Given the description of an element on the screen output the (x, y) to click on. 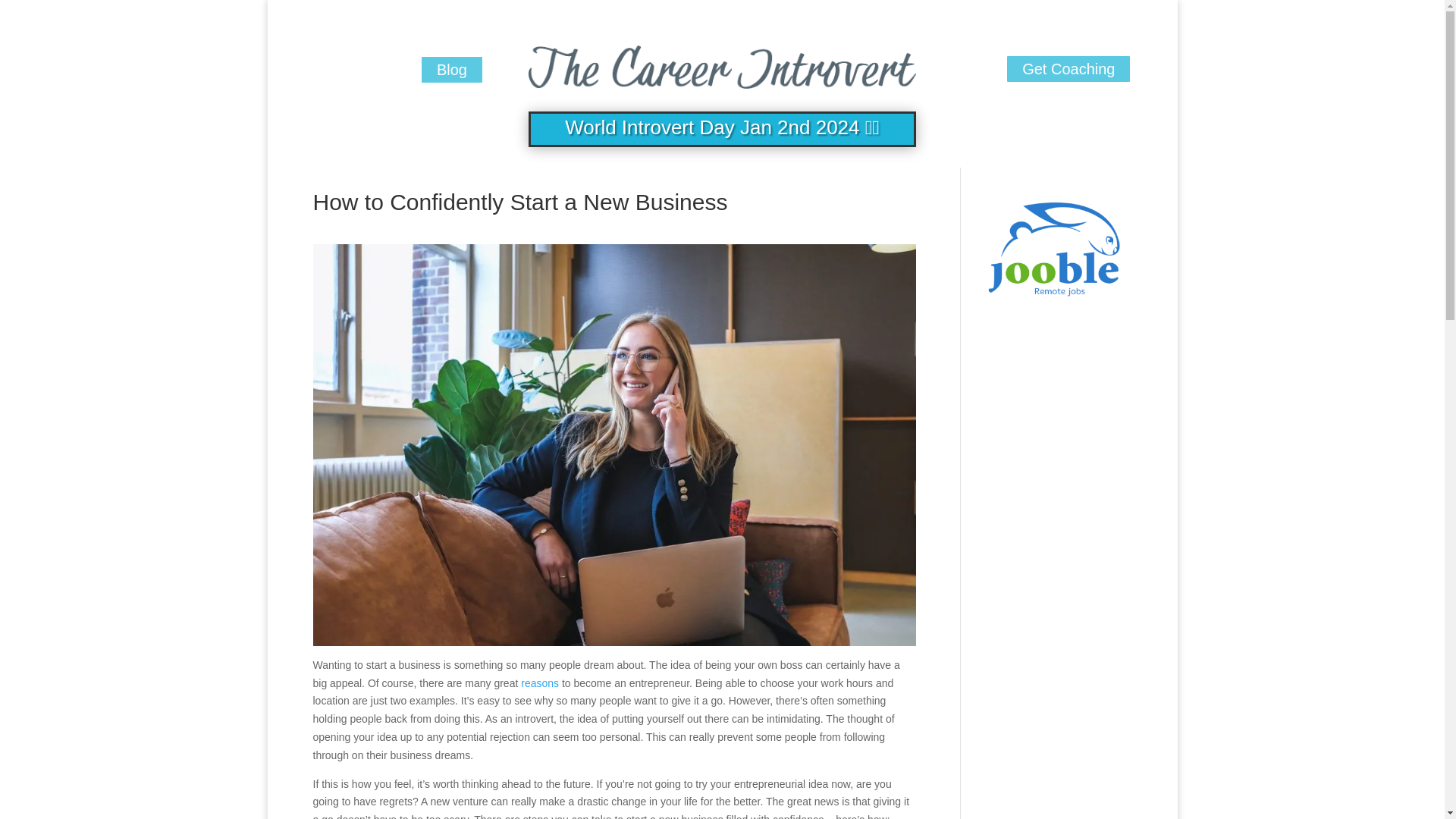
The Career Introvert (721, 63)
Blog (451, 69)
Get Coaching (1068, 68)
reasons (540, 683)
